Given the description of an element on the screen output the (x, y) to click on. 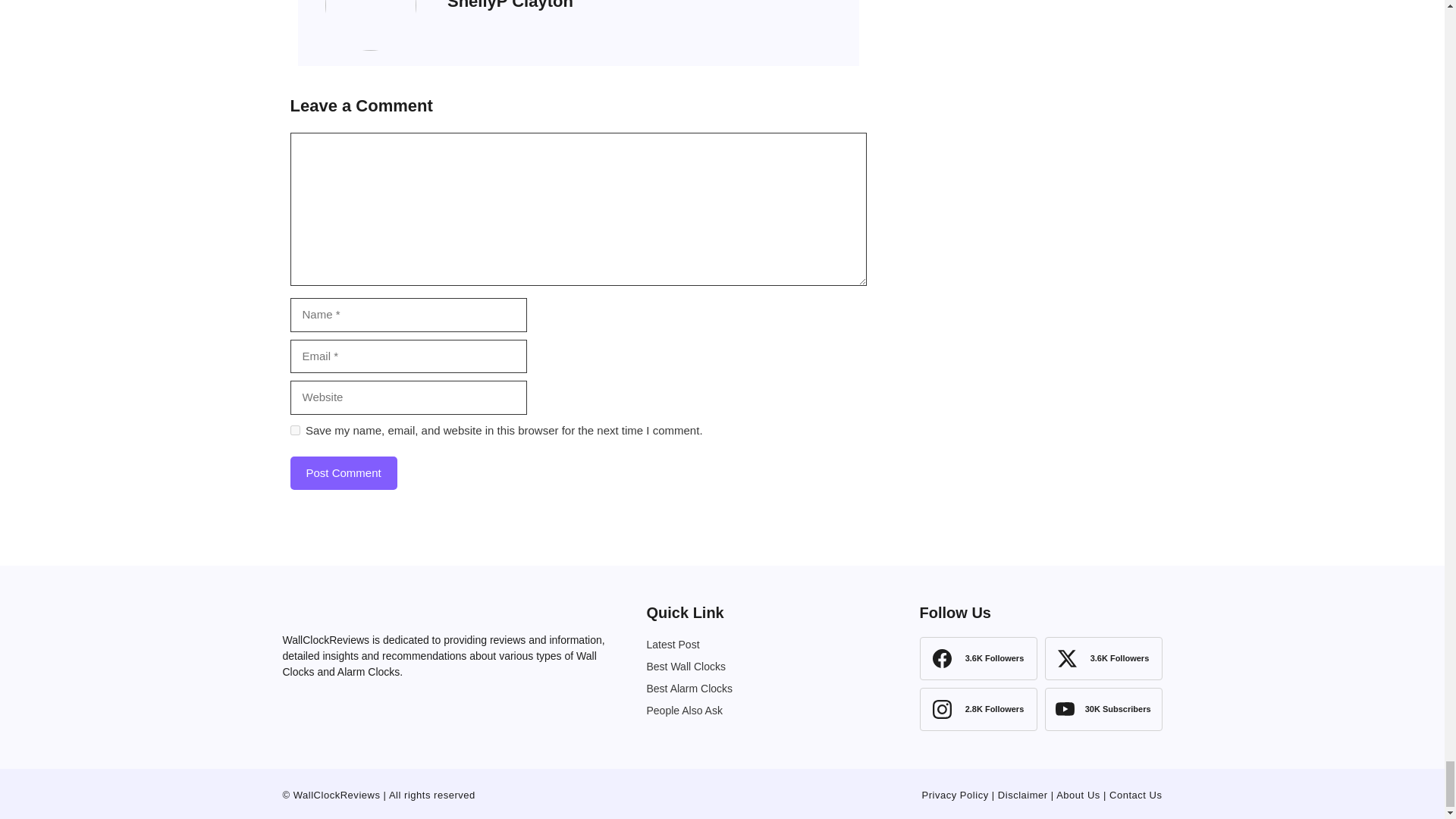
yes (294, 429)
Post Comment (342, 473)
